Given the description of an element on the screen output the (x, y) to click on. 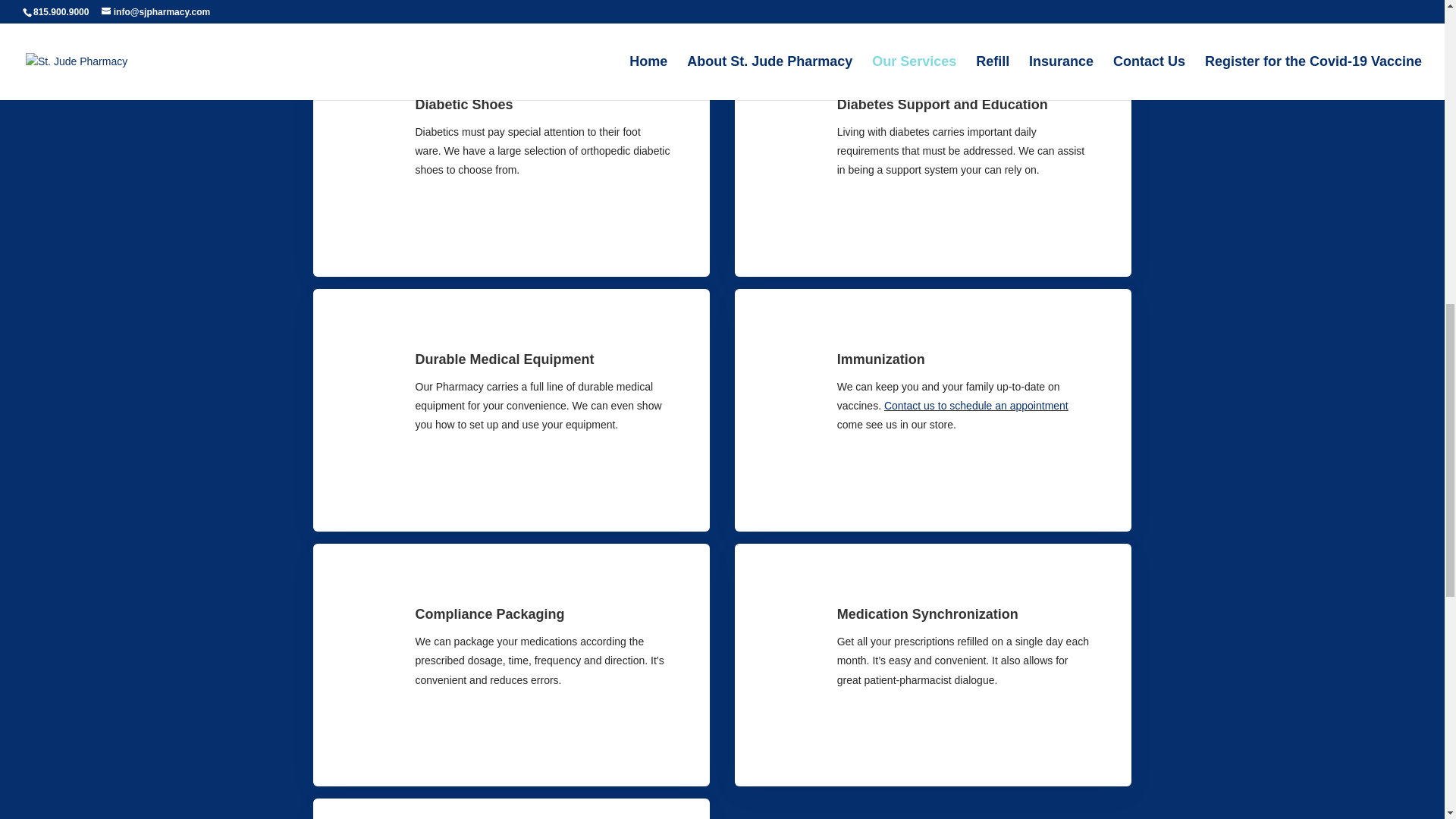
Contact us to schedule an appointment (975, 405)
